Given the description of an element on the screen output the (x, y) to click on. 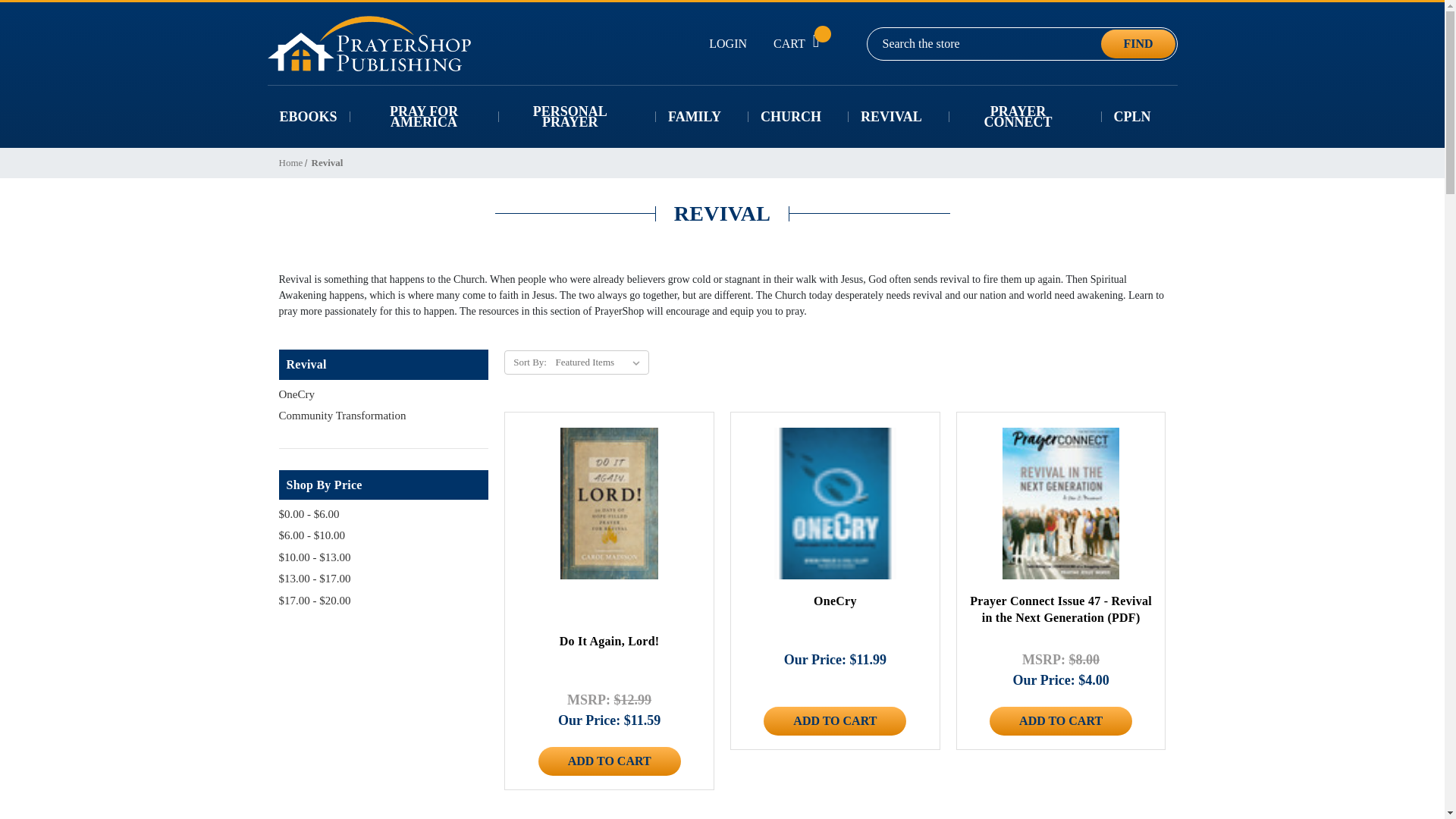
Community Transformation (384, 415)
PERSONAL PRAYER (577, 116)
REVIVAL (898, 116)
OneCry (834, 503)
Do It Again, Lord! (609, 503)
EBOOKS (307, 116)
Prayer Connect Issue 47 (1061, 503)
LOGIN (727, 44)
FIND (1137, 43)
OneCry (384, 394)
